Given the description of an element on the screen output the (x, y) to click on. 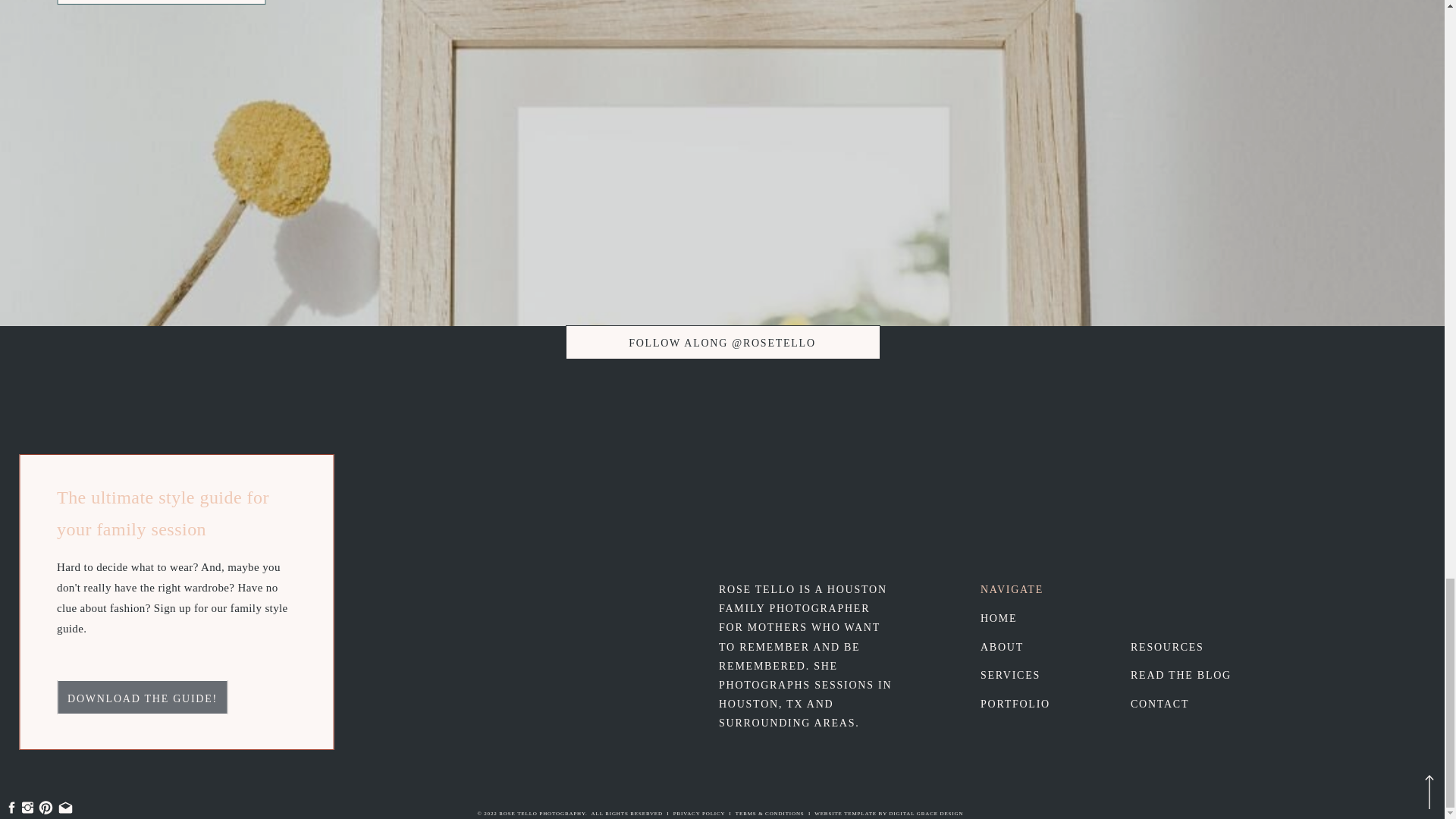
READ THE BLOG (1195, 673)
WEBSITE TEMPLATE BY DIGITAL GRACE DESIGN (887, 813)
CONTACT (1190, 702)
PORTFOLIO (1015, 702)
RESOURCES (1187, 646)
PRIVACY POLICY (698, 813)
SERVICES (1028, 673)
ABOUT (1004, 646)
